Given the description of an element on the screen output the (x, y) to click on. 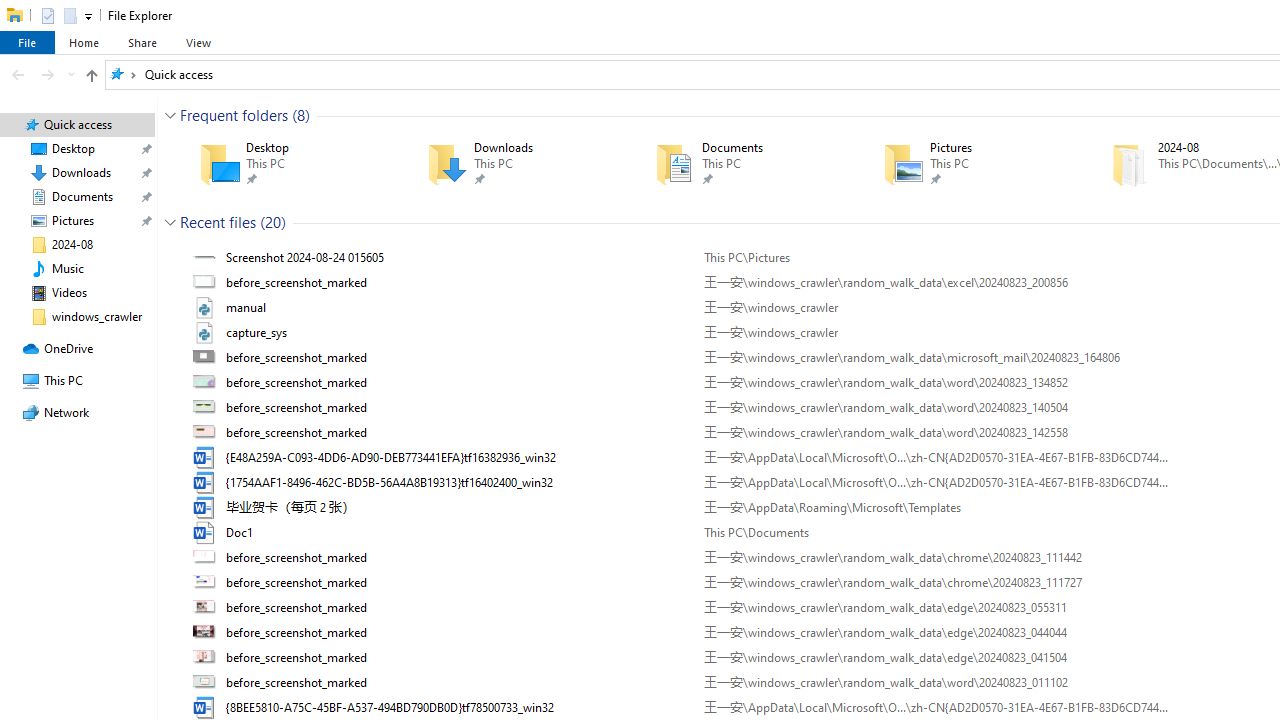
View (198, 42)
Navigation buttons (40, 74)
Customize Quick Access Toolbar (87, 16)
Path (936, 683)
Documents (740, 164)
Quick access (178, 74)
Back (Alt + Left Arrow) (17, 74)
Class: UIImage (205, 683)
Properties (47, 14)
Collapse Group (169, 222)
Up band toolbar (91, 78)
Quick Access Toolbar (58, 16)
Desktop (284, 164)
Forward (Alt + Right Arrow) (47, 74)
Pictures (969, 164)
